Given the description of an element on the screen output the (x, y) to click on. 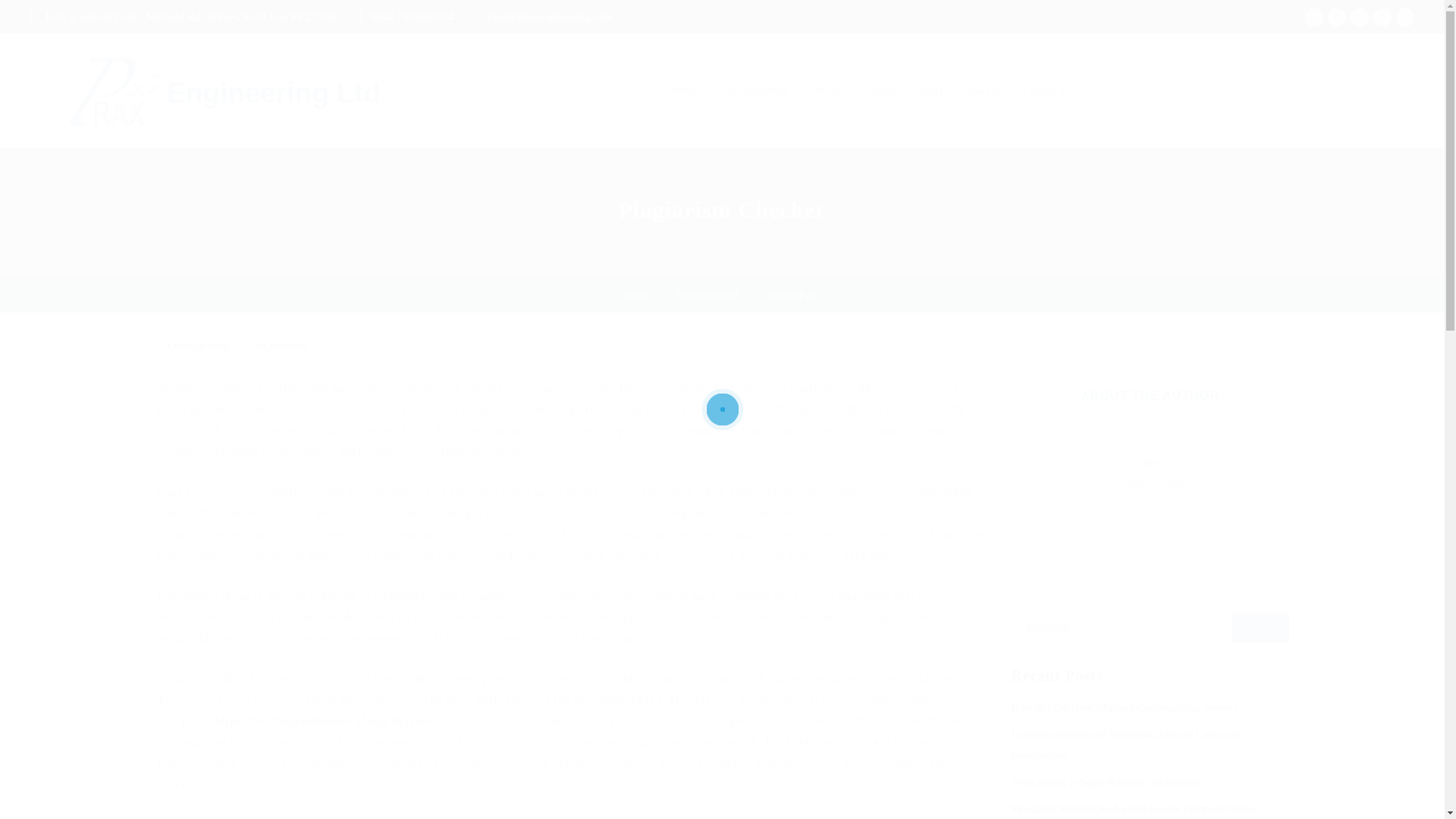
Home (637, 295)
Our Capabilities (752, 90)
Search (1259, 627)
Uncategorized (197, 346)
Uncategorized (707, 295)
Engineering Ltd (205, 90)
PRAX - Precision Engineering (205, 90)
0044 7961008744 (411, 16)
0 Comments (281, 346)
